Given the description of an element on the screen output the (x, y) to click on. 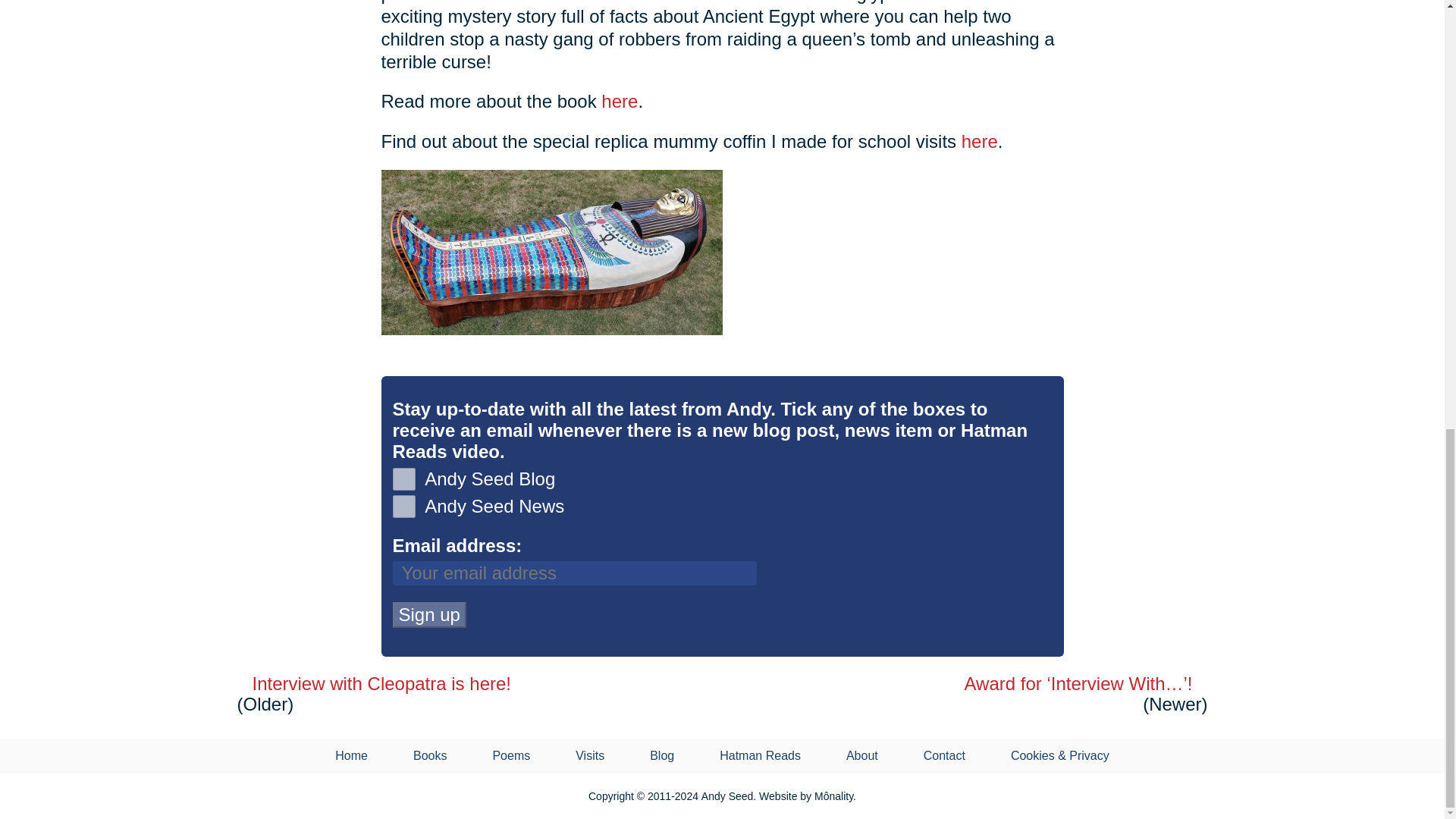
here (978, 140)
Interview with Cleopatra is here! (453, 683)
here (619, 100)
Sign up (429, 614)
Sign up (429, 614)
793ee899e7 (403, 478)
6f7949ee44 (403, 506)
